Given the description of an element on the screen output the (x, y) to click on. 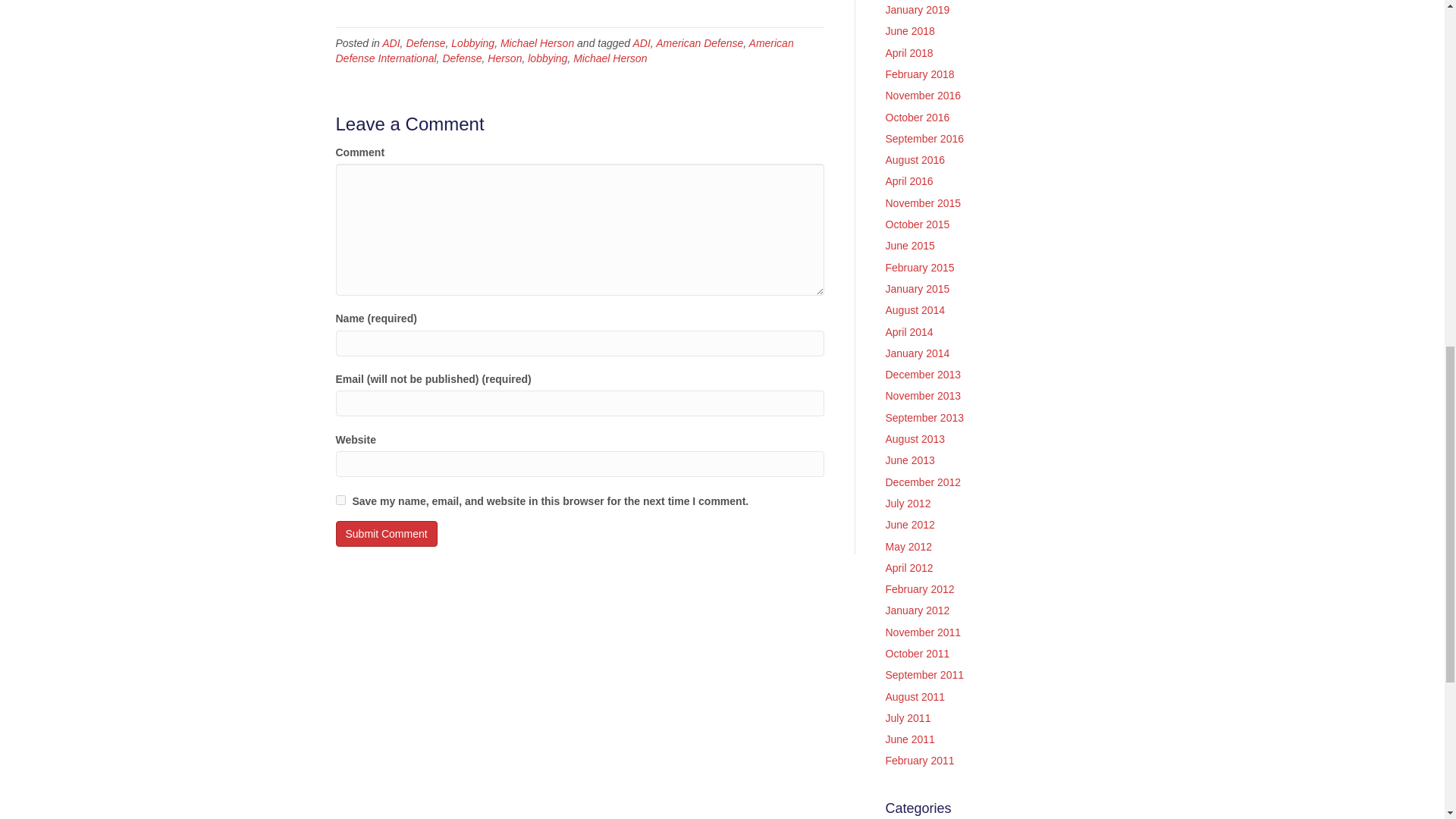
Defense (461, 58)
Herson (504, 58)
American Defense International (563, 50)
ADI (389, 42)
yes (339, 500)
Michael Herson (609, 58)
Michael Herson (536, 42)
lobbying (547, 58)
Submit Comment (385, 533)
click here to read the full article (407, 1)
Submit Comment (385, 533)
Defense (425, 42)
Lobbying (473, 42)
ADI (641, 42)
American Defense (699, 42)
